Given the description of an element on the screen output the (x, y) to click on. 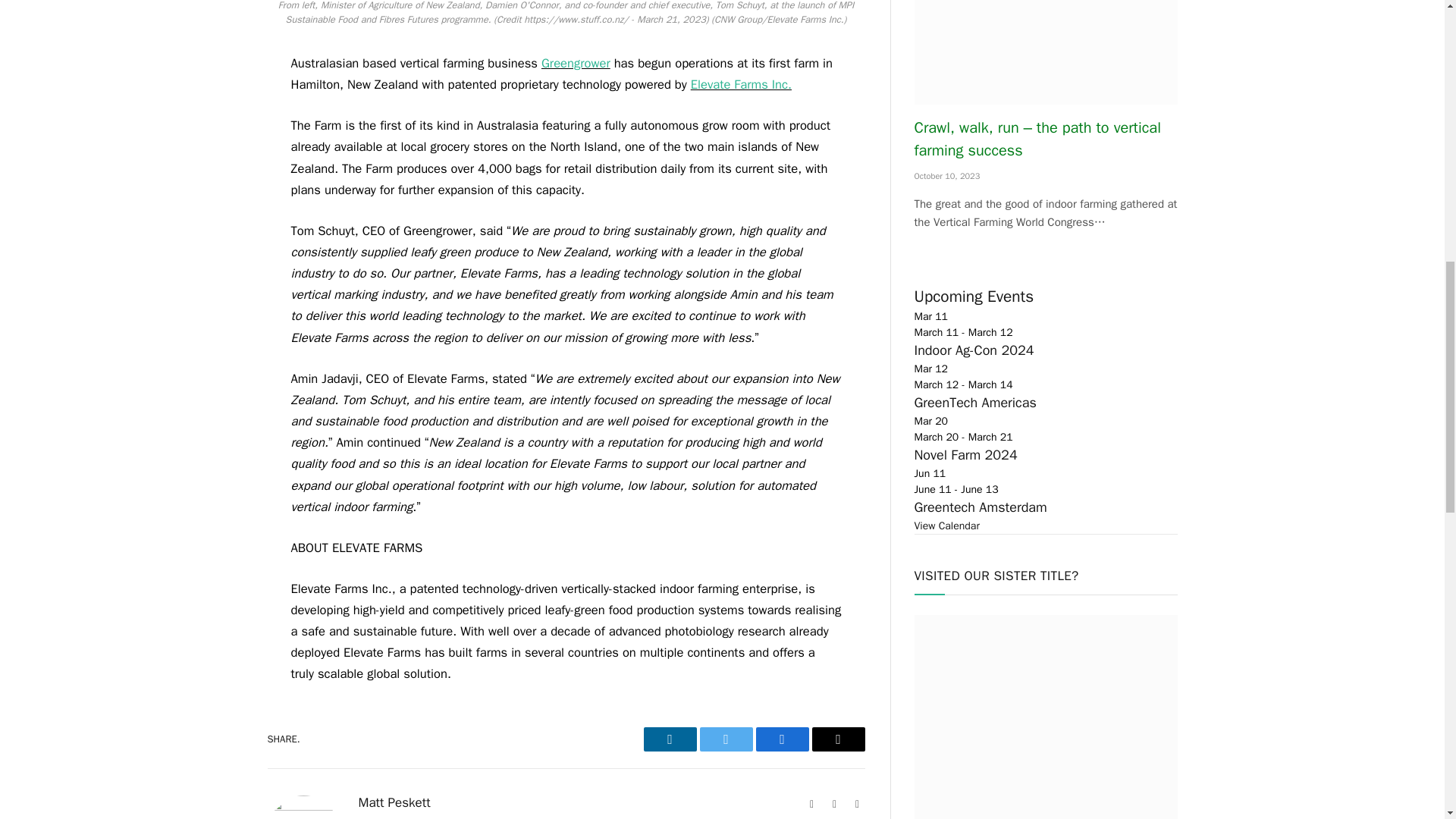
LinkedIn (856, 804)
Posts by Matt Peskett (393, 802)
Website (810, 804)
Share on LinkedIn (669, 739)
Share on Facebook (781, 739)
Share via Email (837, 739)
